Given the description of an element on the screen output the (x, y) to click on. 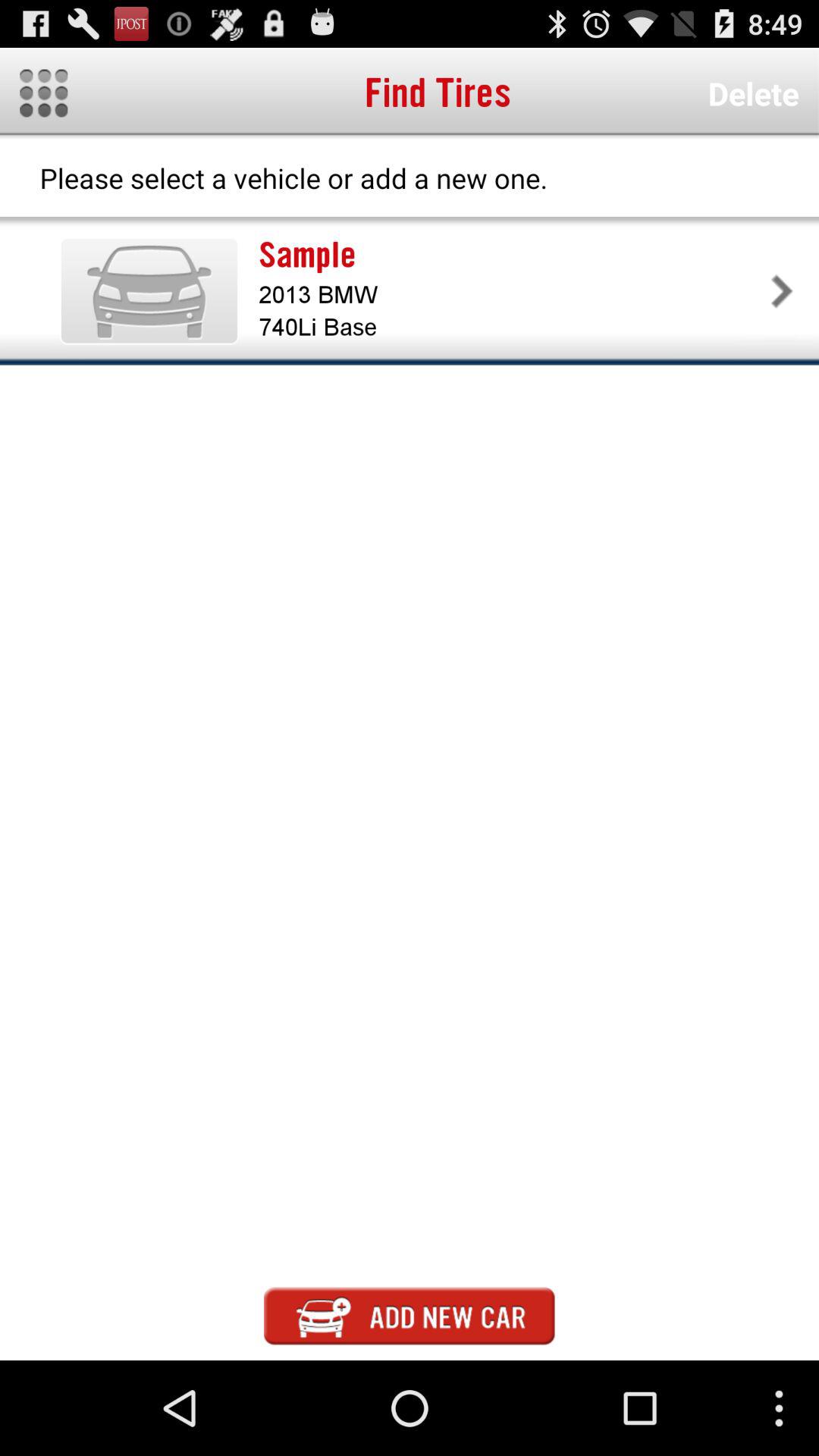
click icon to the left of find tires app (43, 93)
